Given the description of an element on the screen output the (x, y) to click on. 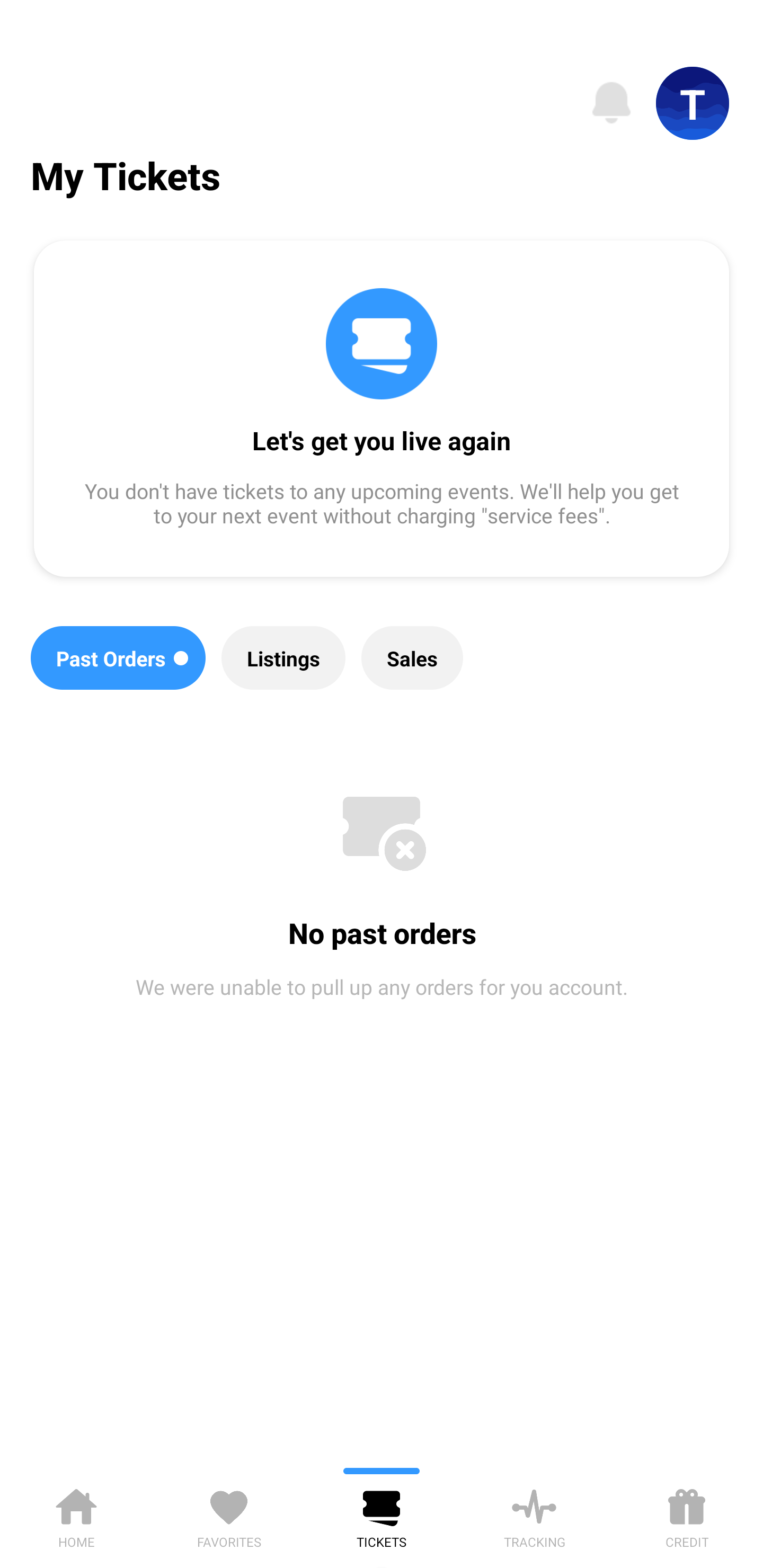
T (692, 103)
Past Orders (117, 657)
Listings (283, 657)
Sales (412, 657)
HOME (76, 1515)
FAVORITES (228, 1515)
TICKETS (381, 1515)
TRACKING (533, 1515)
CREDIT (686, 1515)
